Given the description of an element on the screen output the (x, y) to click on. 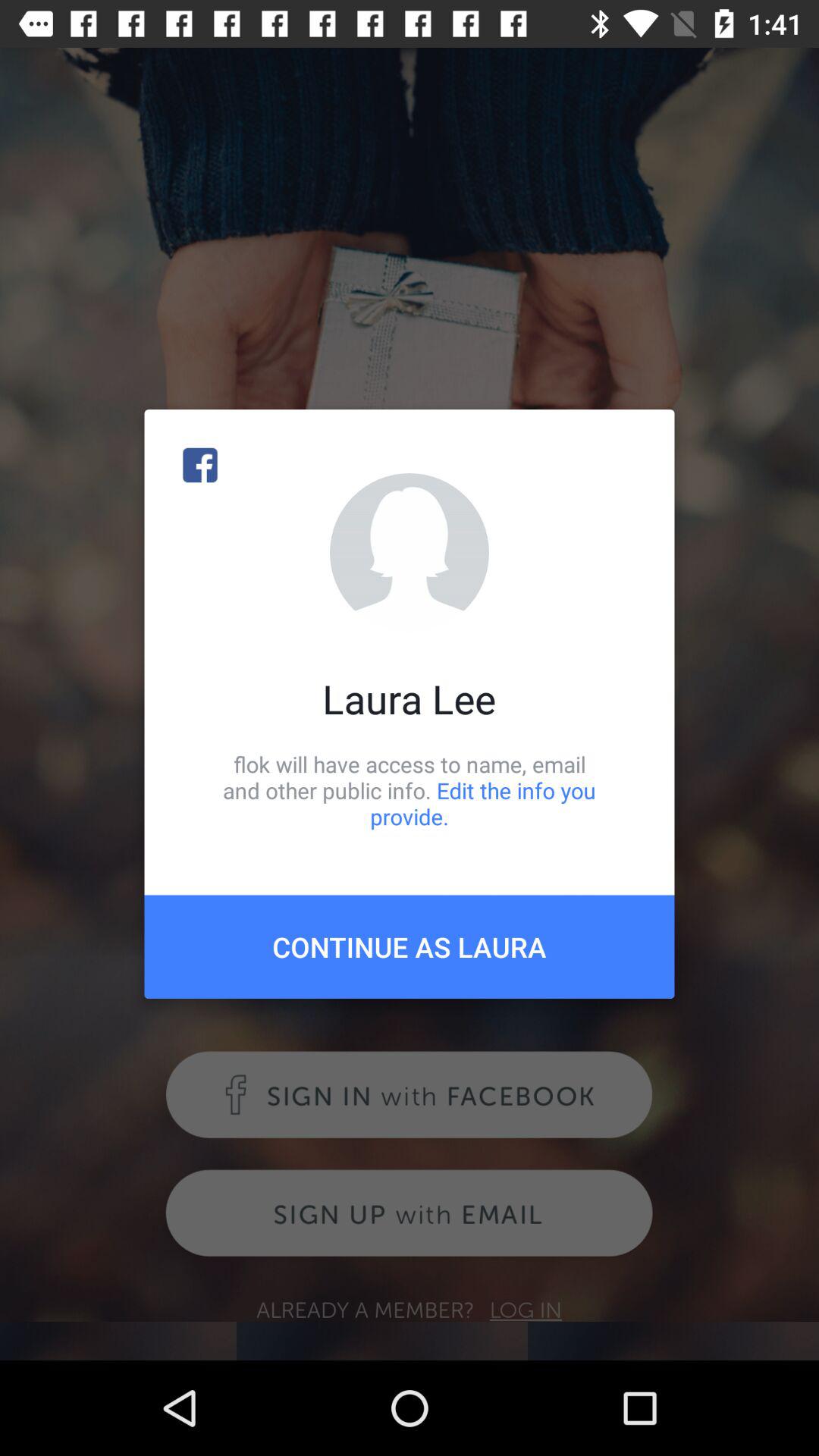
open icon below flok will have (409, 946)
